Given the description of an element on the screen output the (x, y) to click on. 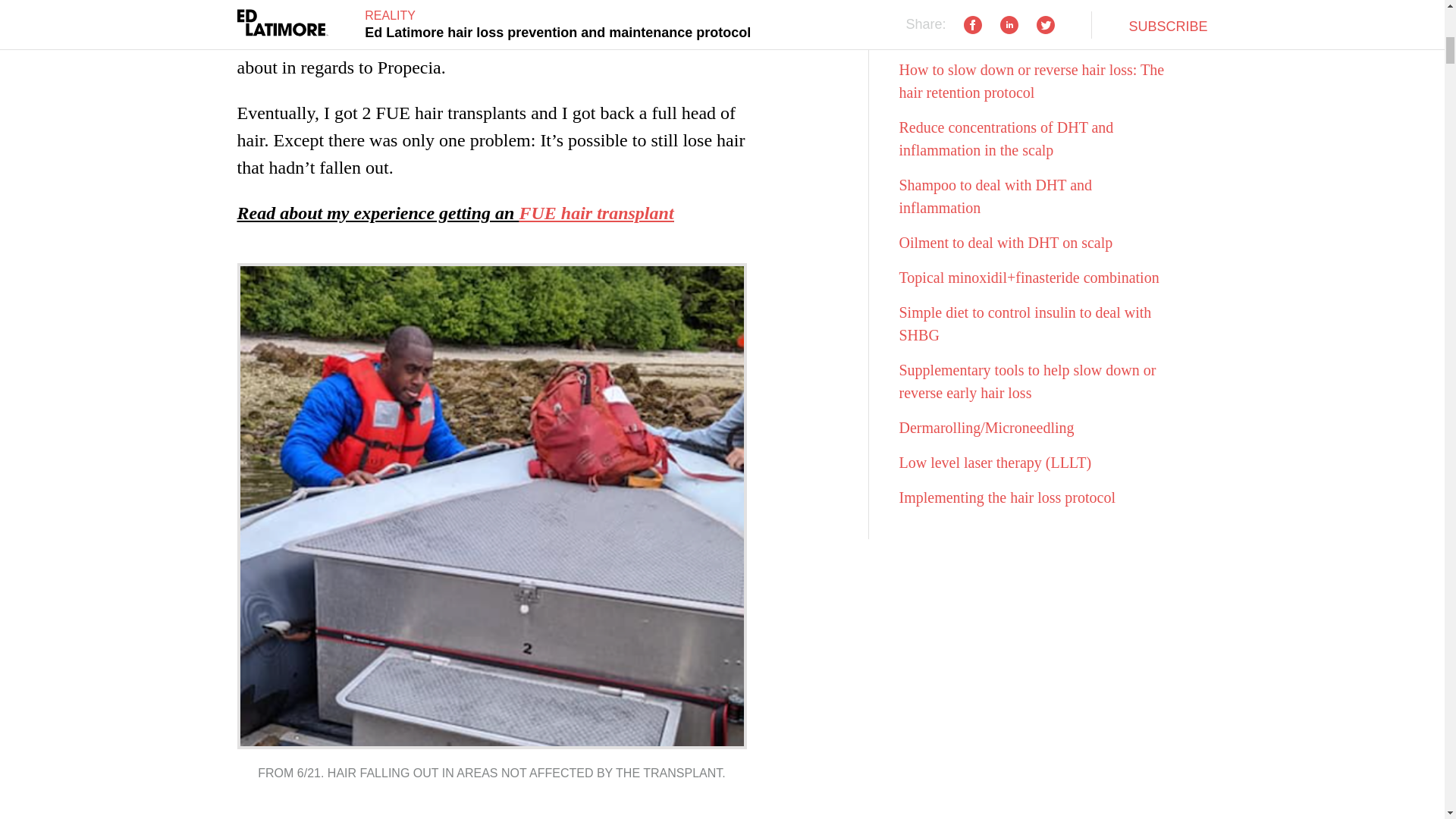
Implementing the hair loss protocol (1007, 497)
Reduce concentrations of DHT and inflammation in the scalp (1006, 138)
Simple diet to control insulin to deal with SHBG  (1025, 323)
FUE hair transplant (595, 212)
Shampoo to deal with DHT and inflammation (996, 196)
The role of insulin resistance in androgentic alopecia (1032, 23)
Oilment to deal with DHT on scalp (1006, 242)
